Given the description of an element on the screen output the (x, y) to click on. 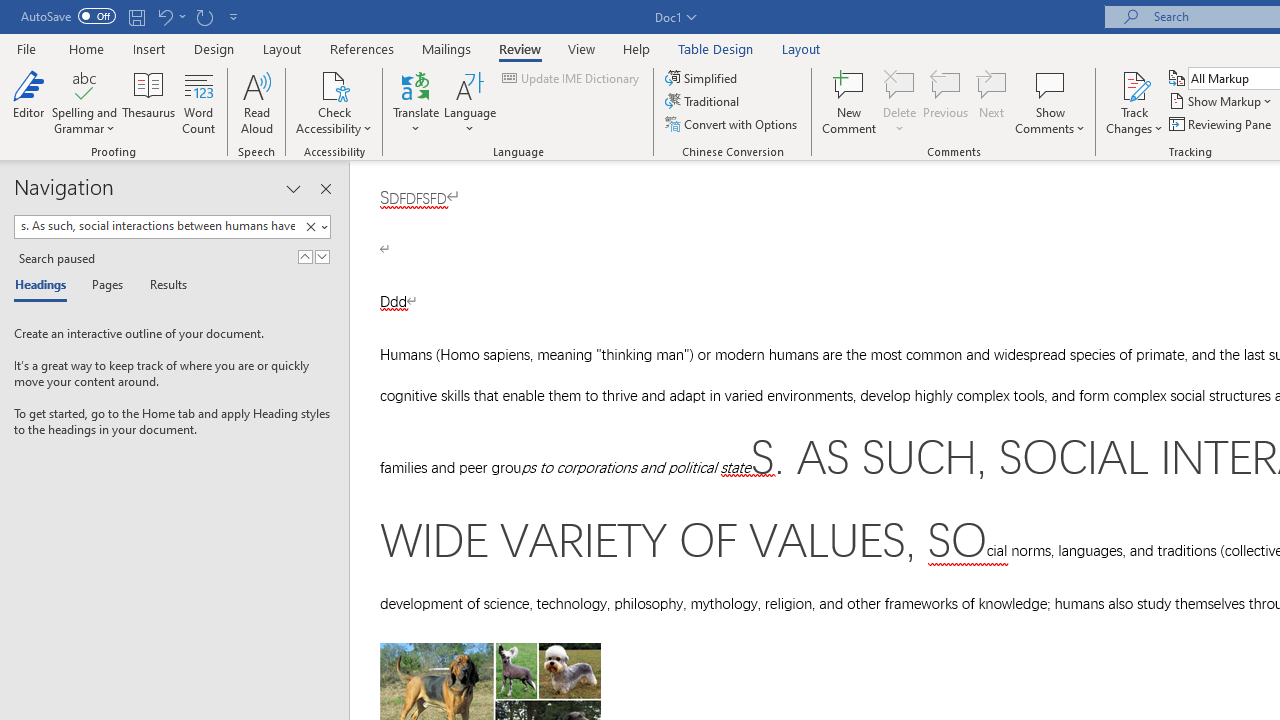
Traditional (703, 101)
Show Comments (1050, 102)
Thesaurus... (148, 102)
Previous (946, 102)
Show Markup (1222, 101)
Track Changes (1134, 84)
Clear (310, 227)
